Given the description of an element on the screen output the (x, y) to click on. 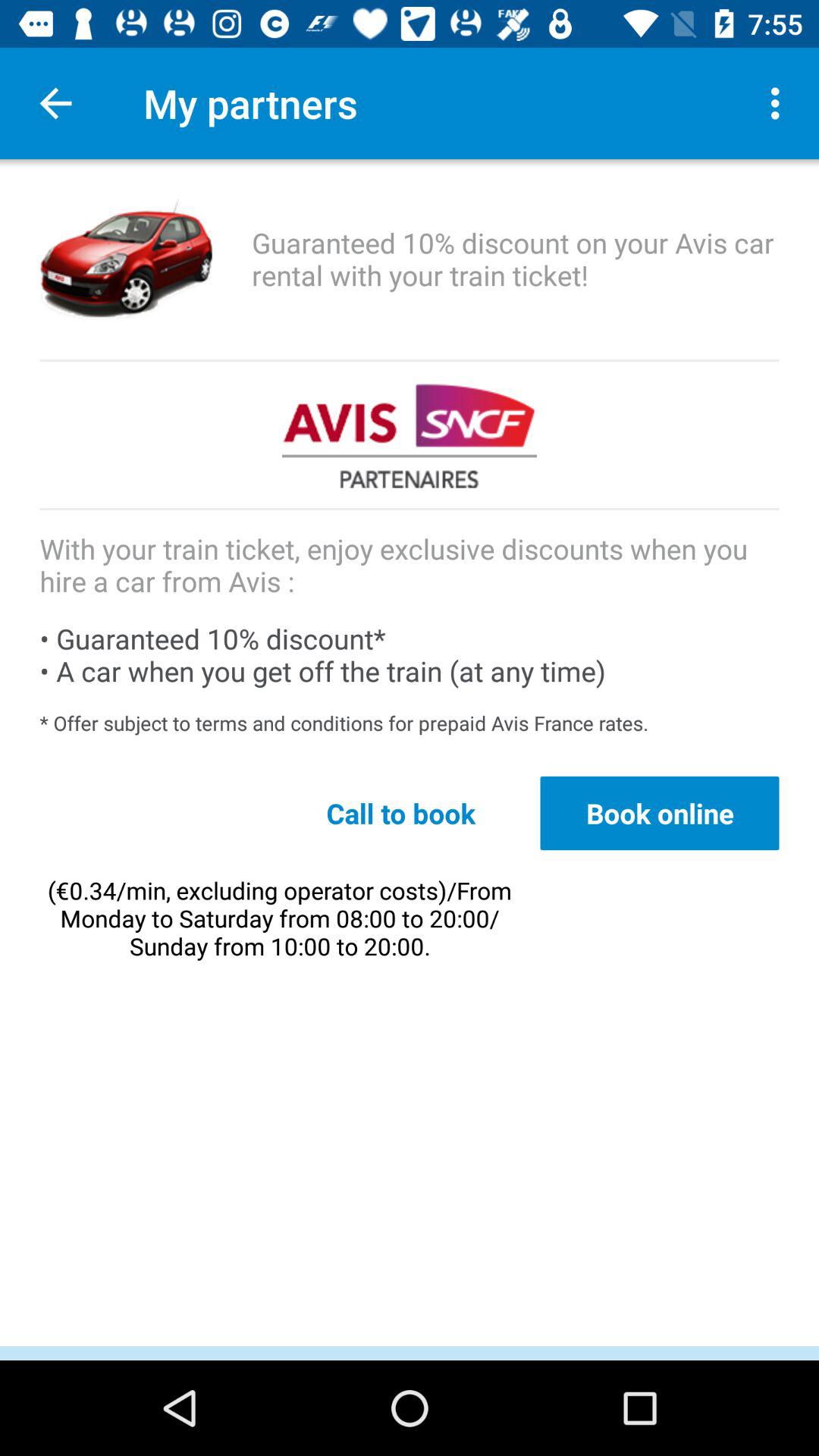
press the icon next to my partners icon (55, 103)
